Given the description of an element on the screen output the (x, y) to click on. 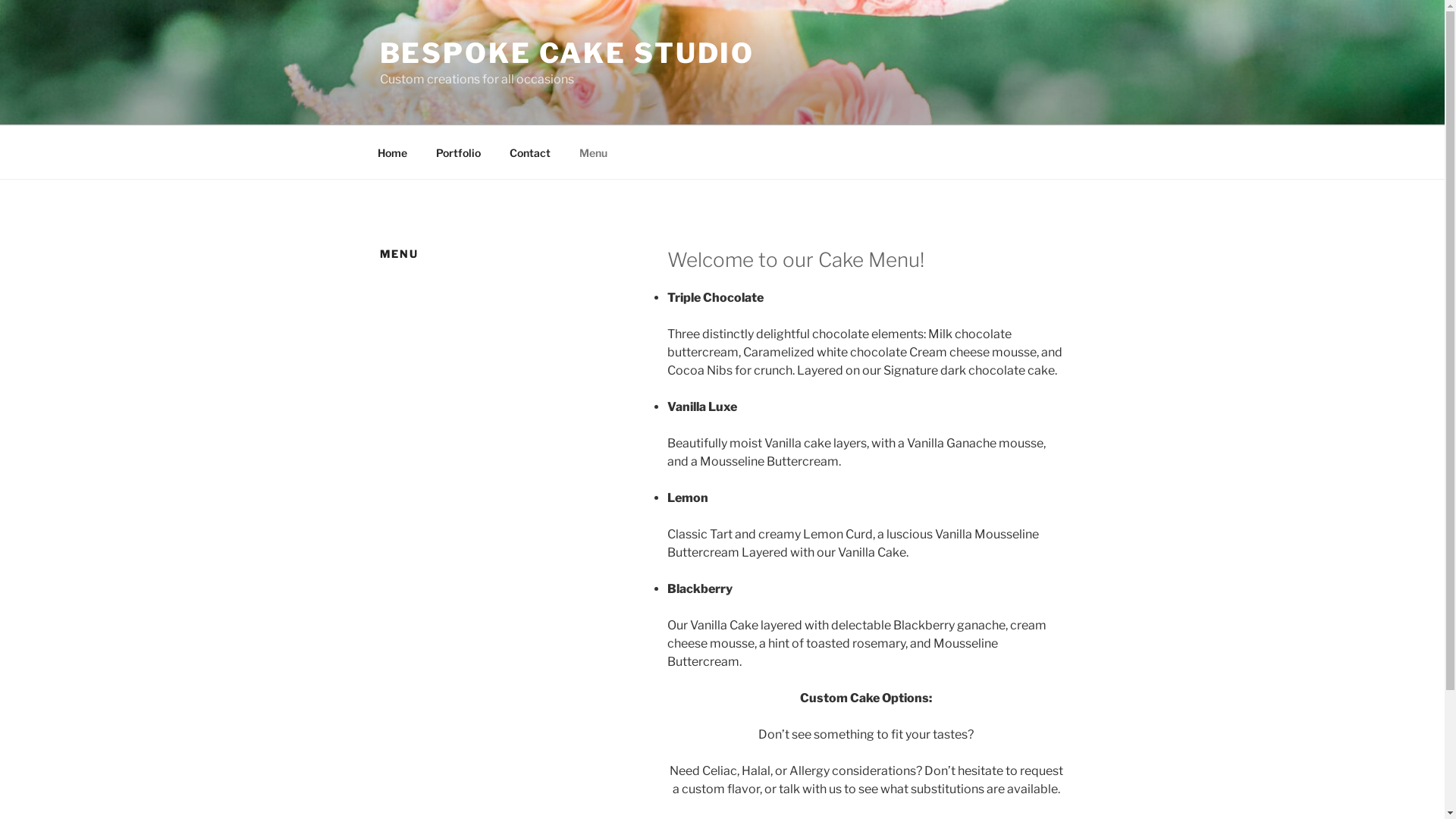
BESPOKE CAKE STUDIO Element type: text (566, 52)
Contact Element type: text (529, 151)
Menu Element type: text (592, 151)
Portfolio Element type: text (458, 151)
Home Element type: text (392, 151)
